Given the description of an element on the screen output the (x, y) to click on. 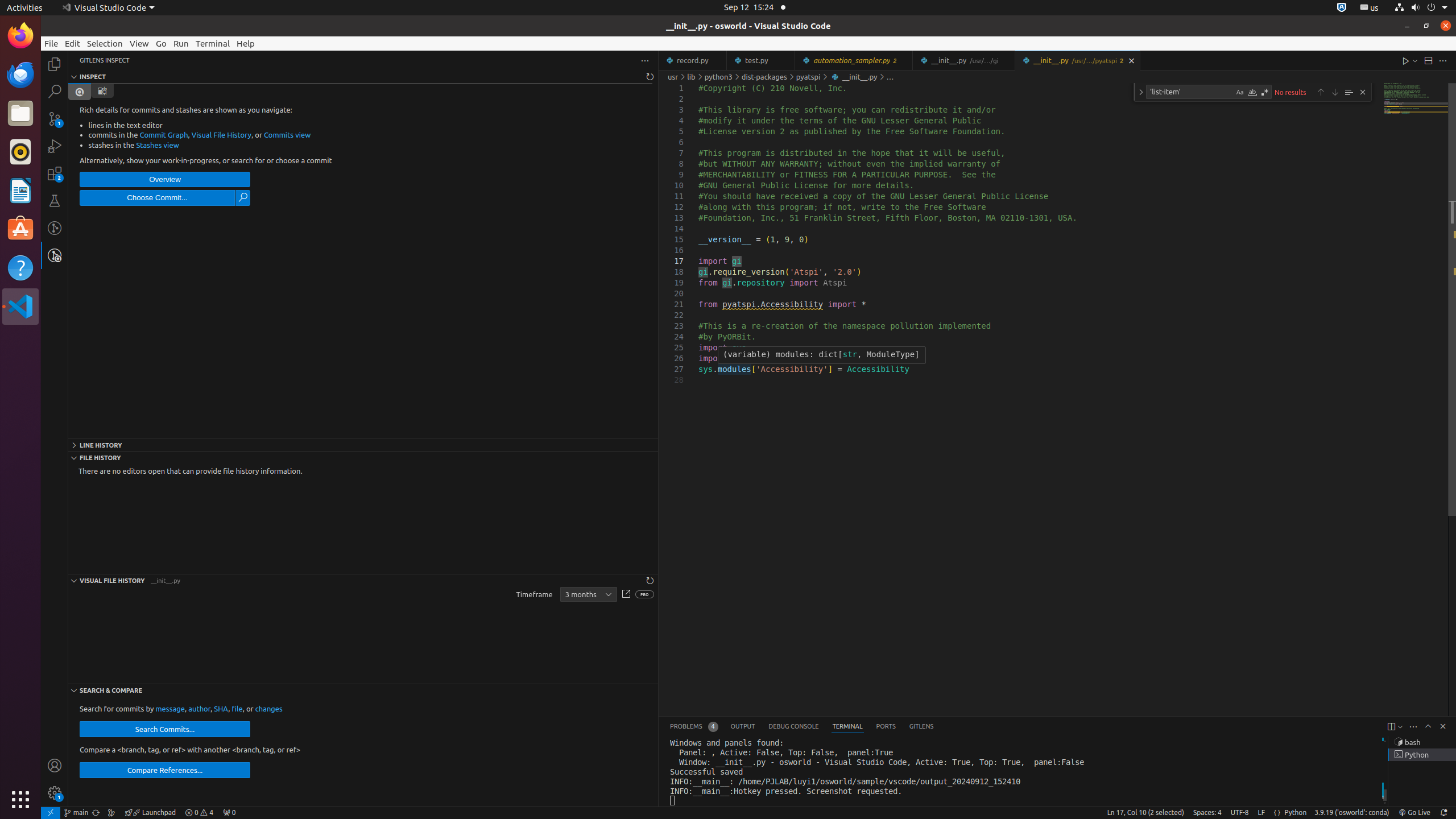
 Element type: link (625, 594)
Search (Ctrl+Shift+F) Element type: page-tab (54, 91)
File Element type: push-button (50, 43)
LF Element type: push-button (1261, 812)
Accounts Element type: push-button (54, 765)
